Given the description of an element on the screen output the (x, y) to click on. 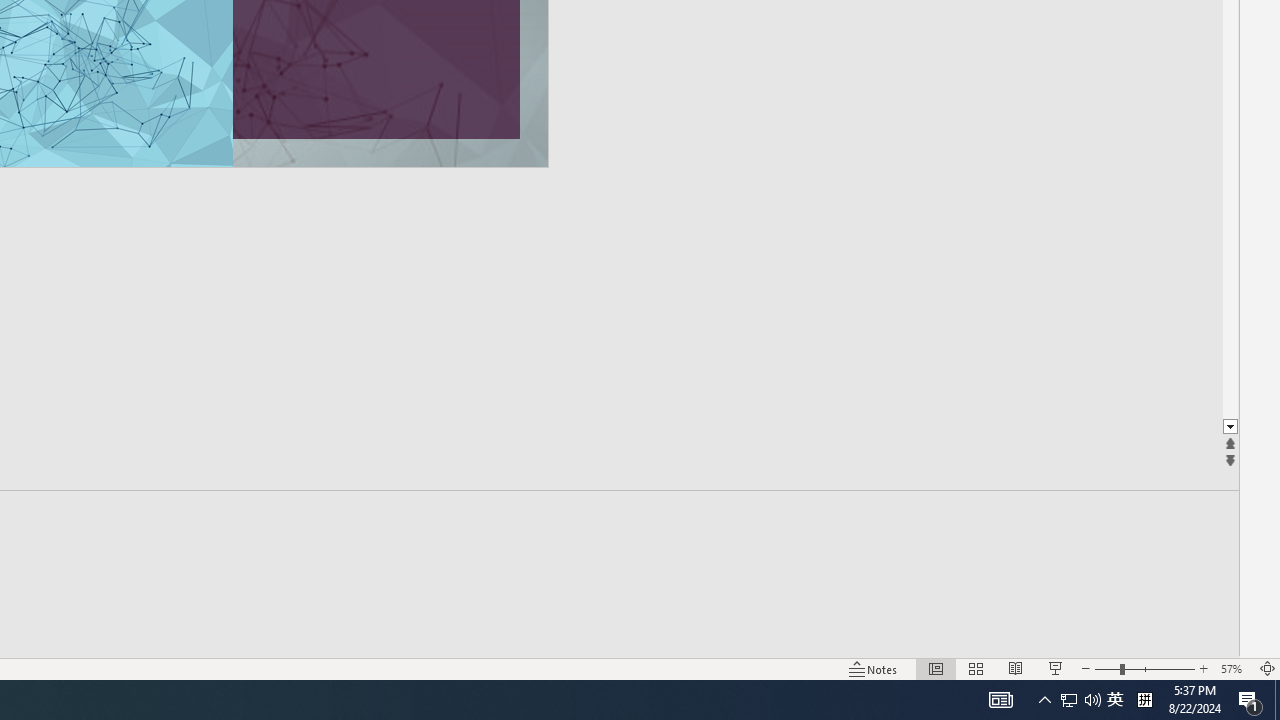
Line down (1230, 427)
Zoom 57% (1234, 668)
